Given the description of an element on the screen output the (x, y) to click on. 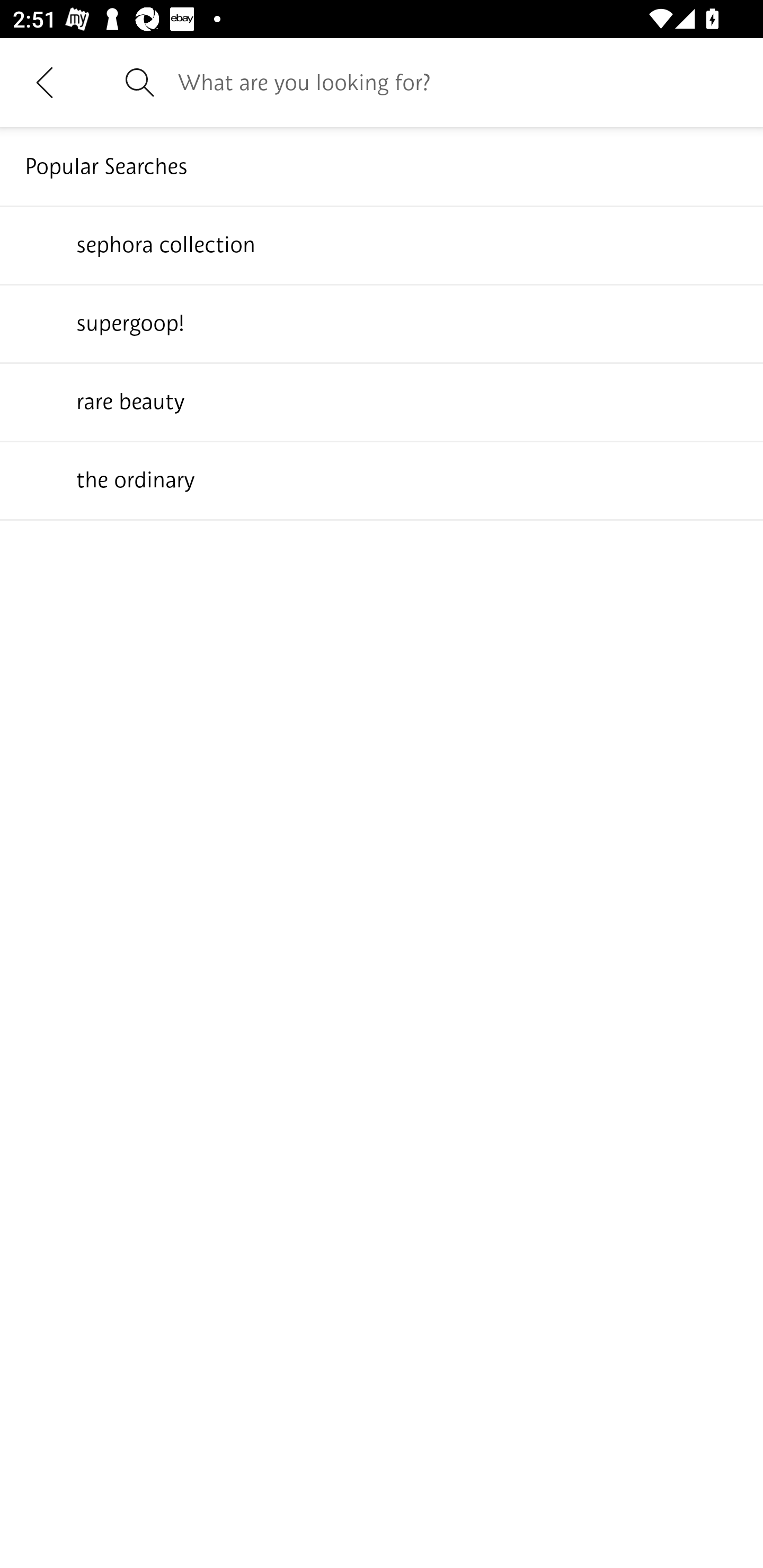
Navigate up (44, 82)
What are you looking for? (457, 82)
sephora collection (381, 244)
supergoop! (381, 322)
rare beauty (381, 401)
the ordinary (381, 479)
